Given the description of an element on the screen output the (x, y) to click on. 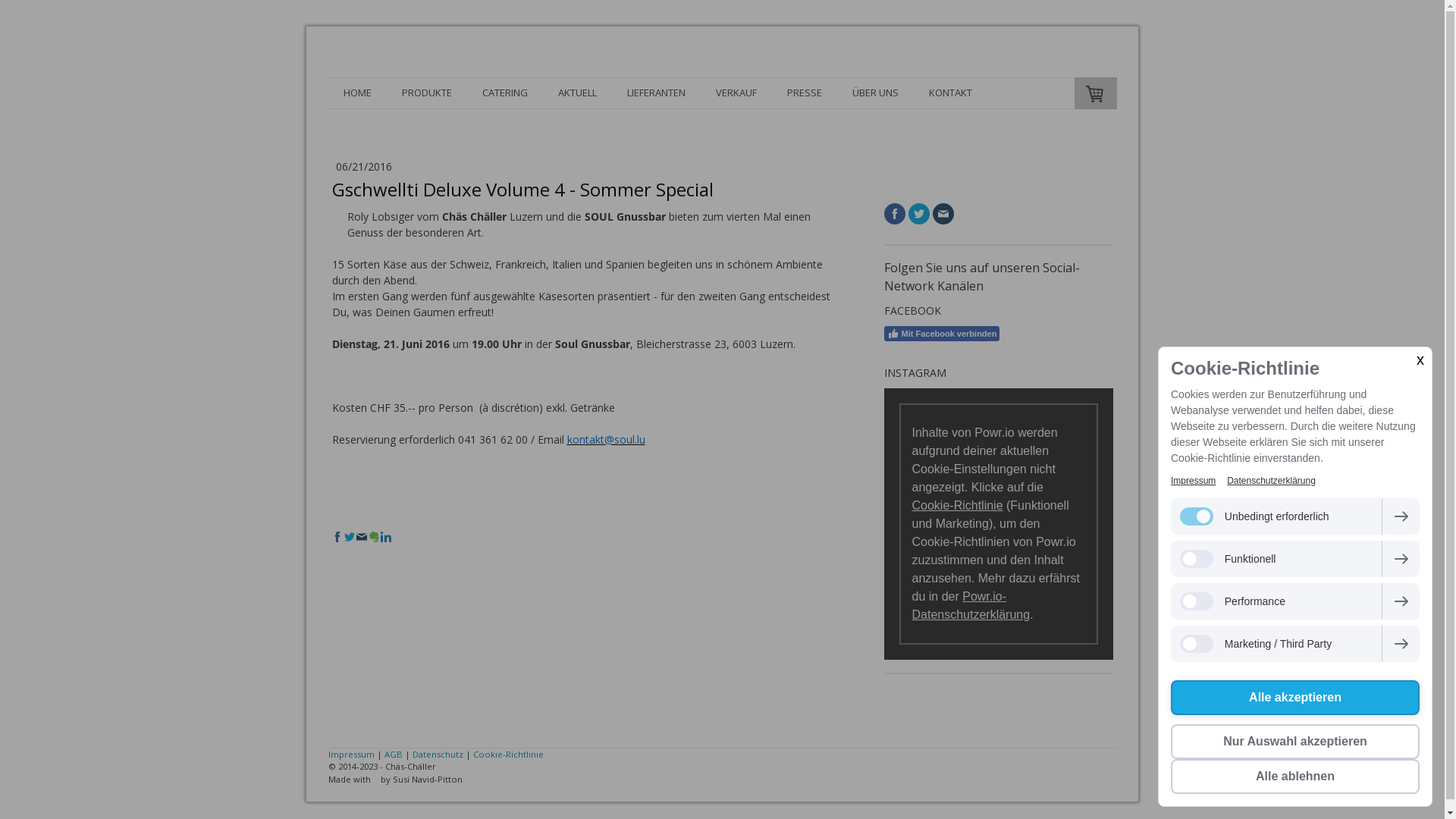
PRESSE Element type: text (804, 93)
Evernote Element type: hover (373, 535)
Twitter Element type: hover (349, 535)
AGB Element type: text (392, 753)
Nur Auswahl akzeptieren Element type: text (1294, 741)
Facebook Element type: hover (894, 213)
Twitter Element type: hover (918, 213)
Alle ablehnen Element type: text (1294, 776)
PRODUKTE Element type: text (426, 93)
Datenschutz Element type: text (437, 753)
kontakt@soul.lu Element type: text (606, 439)
AKTUELL Element type: text (576, 93)
E-Mail Element type: hover (361, 535)
VERKAUF Element type: text (735, 93)
CATERING Element type: text (504, 93)
HOME Element type: text (356, 93)
Cookie-Richtlinie Element type: text (956, 504)
LIEFERANTEN Element type: text (655, 93)
E-Mail Element type: hover (942, 213)
Facebook Element type: hover (337, 535)
Impressum Element type: text (1192, 480)
Alle akzeptieren Element type: text (1294, 697)
KONTAKT Element type: text (949, 93)
Cookie-Richtlinie Element type: text (508, 753)
Impressum Element type: text (350, 753)
LinkedIn Element type: hover (385, 535)
Mit Facebook verbinden Element type: text (942, 333)
